Given the description of an element on the screen output the (x, y) to click on. 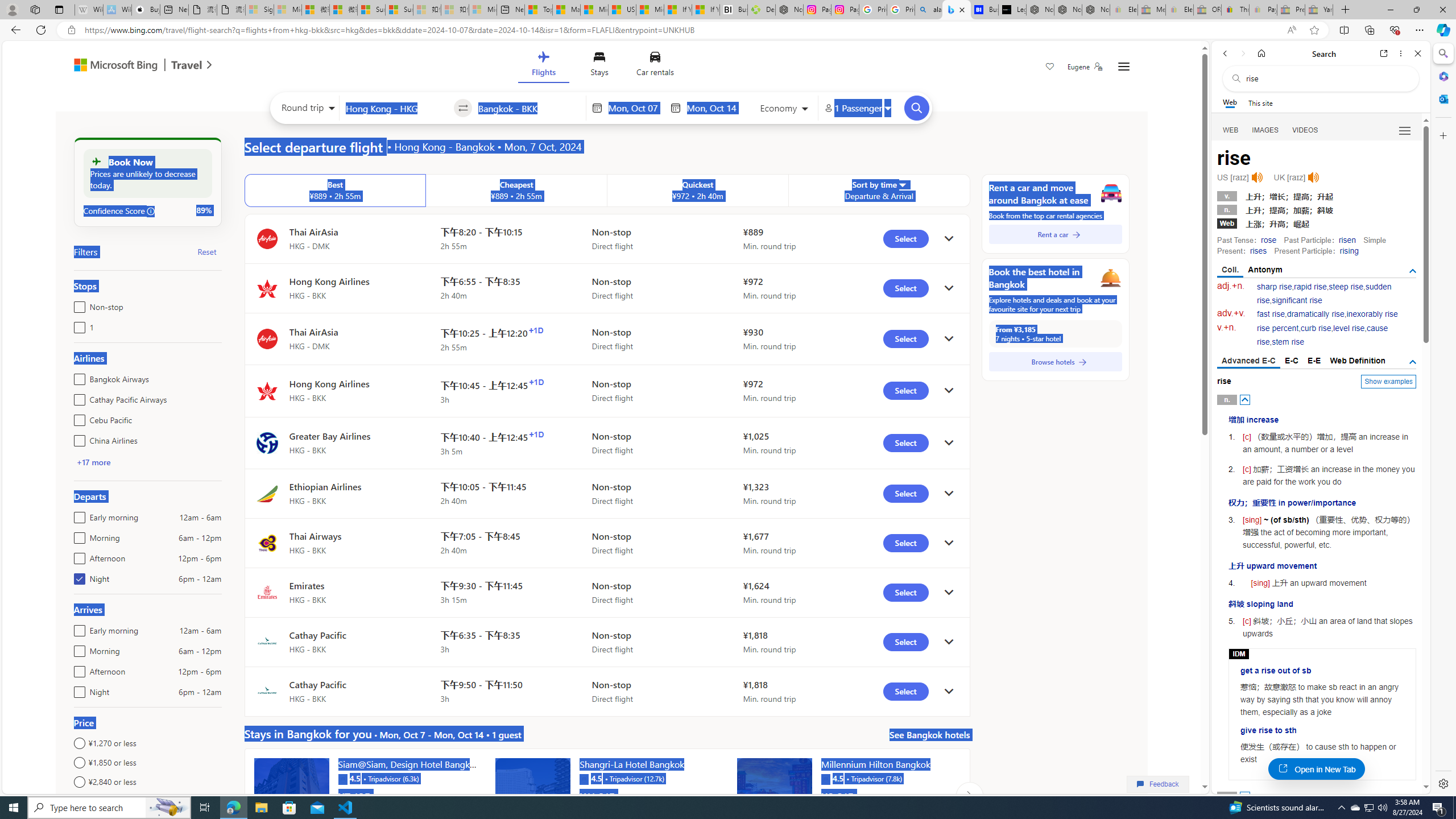
E-C (1291, 360)
rose (1268, 239)
Search Filter, WEB (1231, 129)
Class: b_serphb (1404, 130)
Afternoon12pm - 6pm (76, 669)
